Given the description of an element on the screen output the (x, y) to click on. 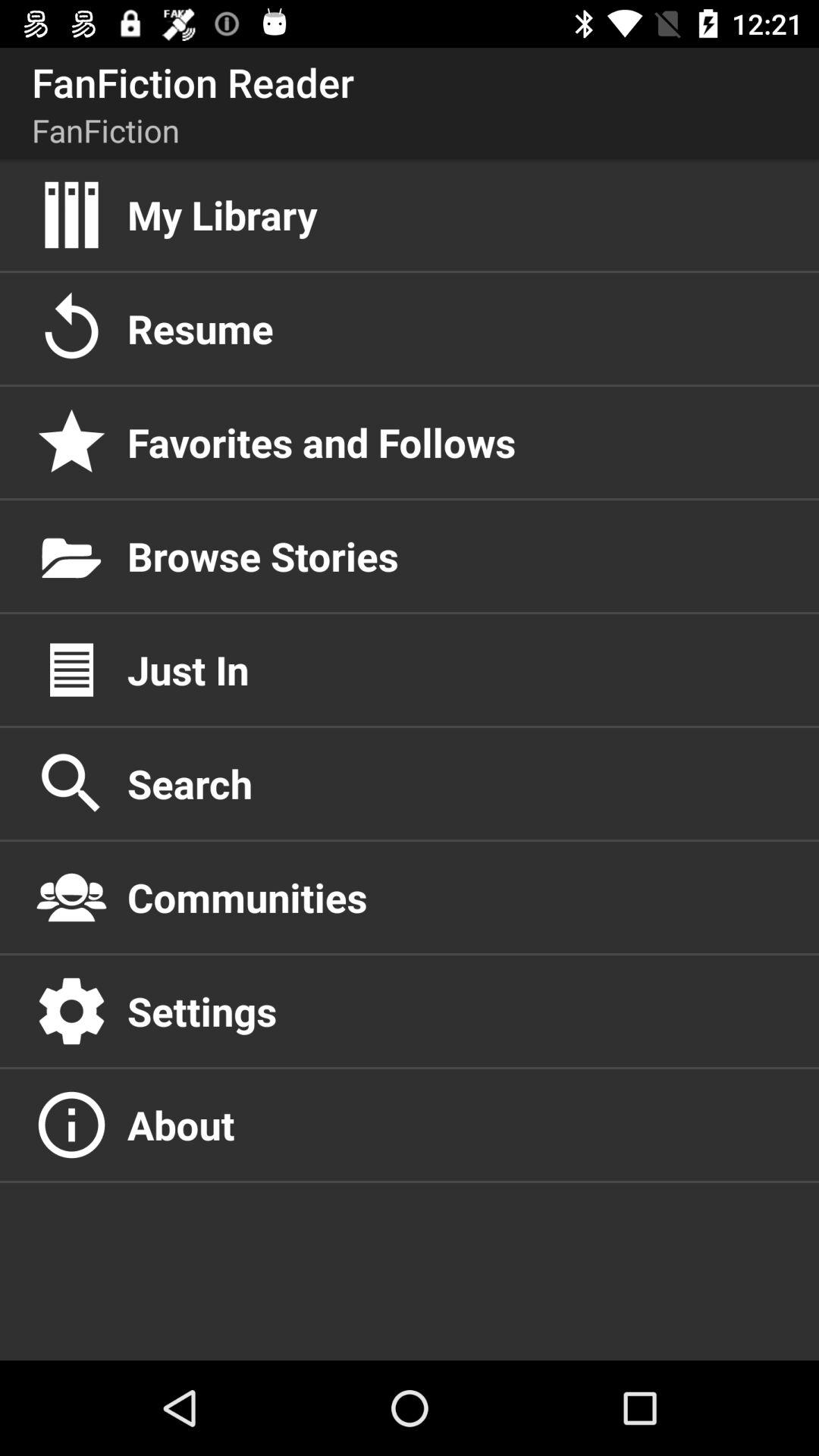
turn on app below the fanfiction item (457, 214)
